Given the description of an element on the screen output the (x, y) to click on. 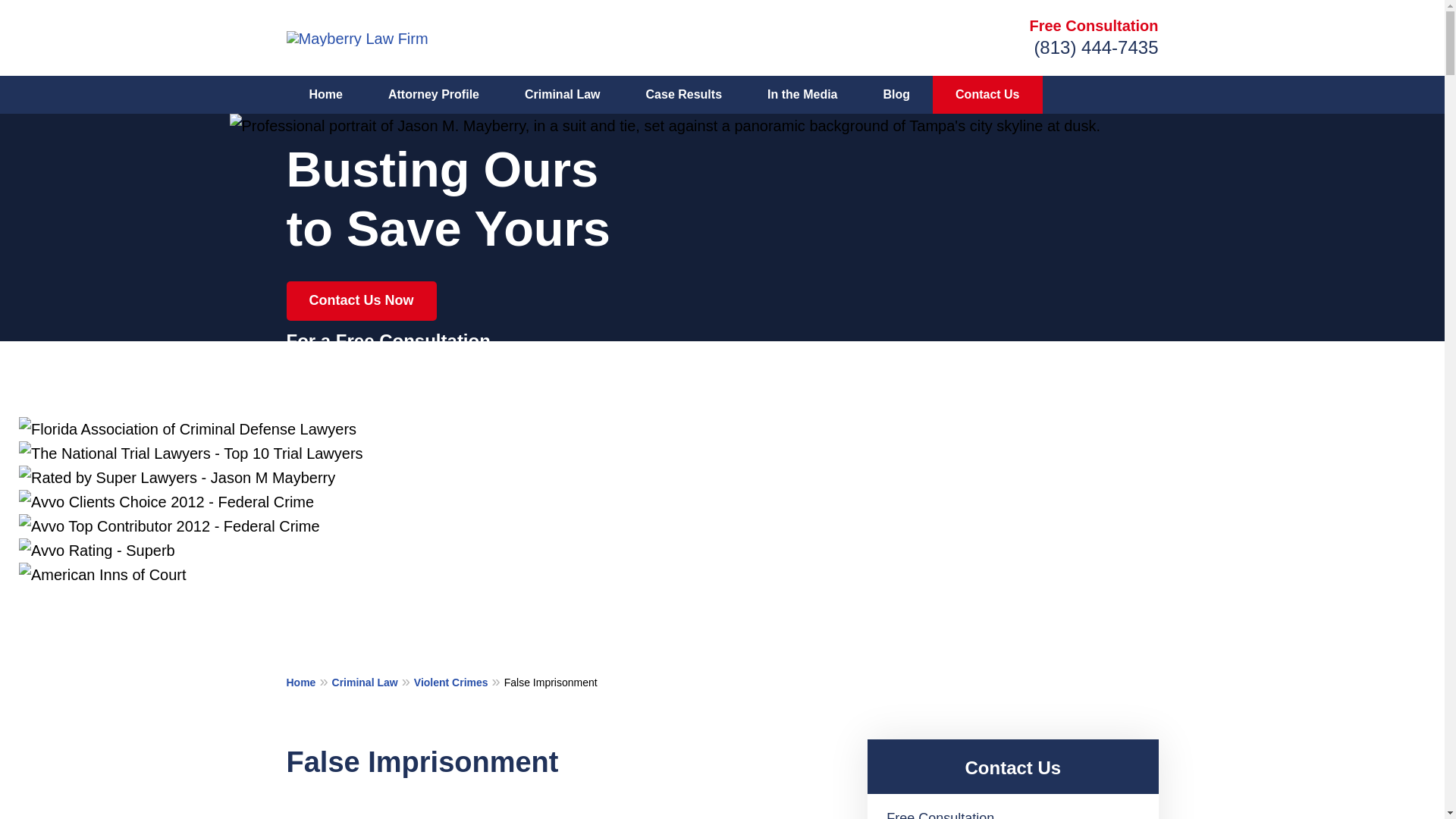
Home (325, 94)
Contact Us Now (361, 301)
Criminal Law (372, 681)
Criminal Law (562, 94)
Blog (896, 94)
In the Media (802, 94)
Home (308, 681)
Case Results (684, 94)
Attorney Profile (433, 94)
Contact Us (1012, 767)
Violent Crimes (458, 681)
Free Consultation (1093, 25)
Contact Us (987, 94)
